Given the description of an element on the screen output the (x, y) to click on. 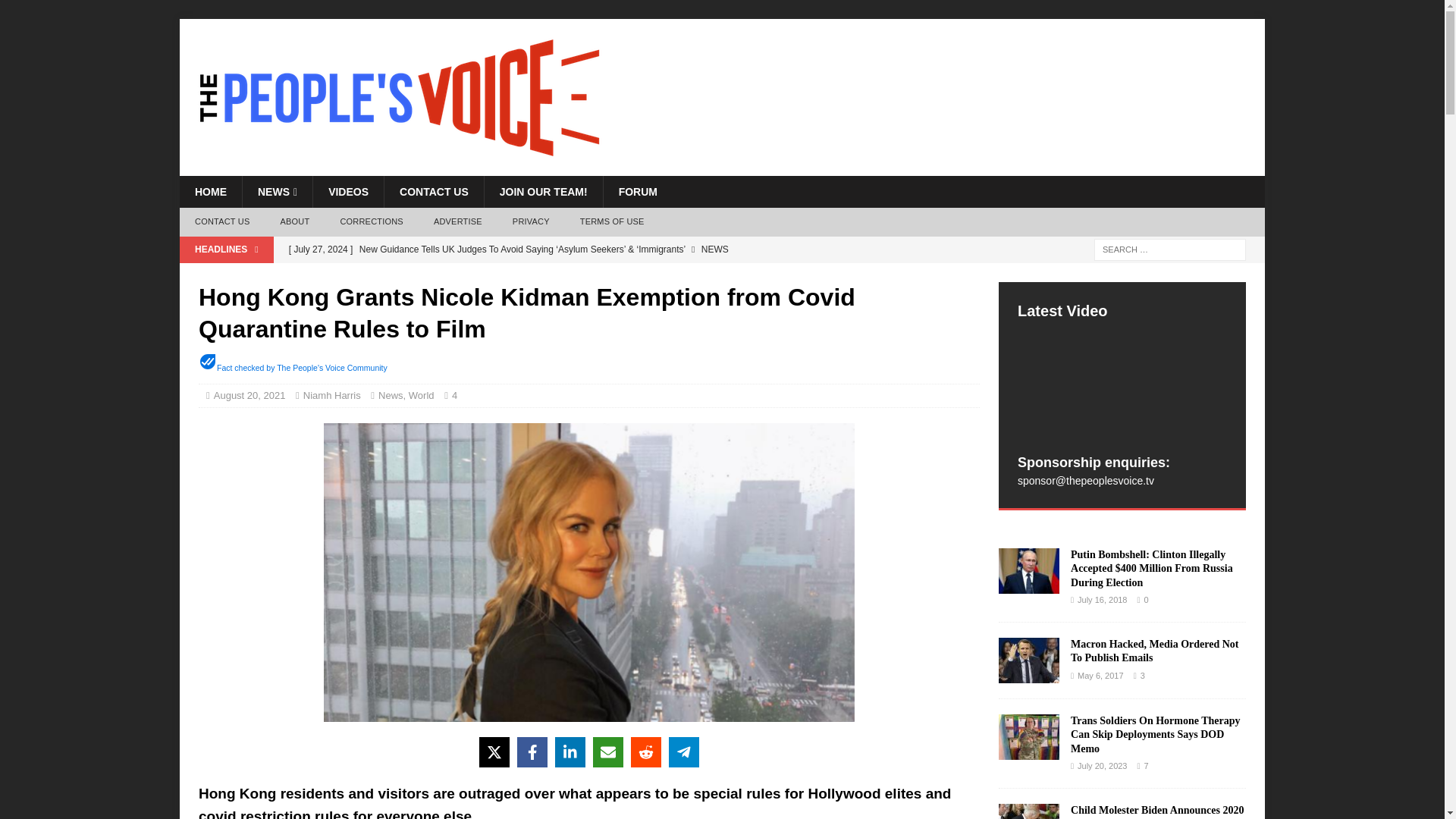
JOIN OUR TEAM! (542, 192)
CONTACT US (433, 192)
TERMS OF USE (611, 222)
PRIVACY (530, 222)
VIDEOS (348, 192)
CORRECTIONS (370, 222)
CONTACT US (221, 222)
ABOUT (294, 222)
NEWS (277, 192)
ADVERTISE (458, 222)
HOME (210, 192)
FORUM (637, 192)
